Given the description of an element on the screen output the (x, y) to click on. 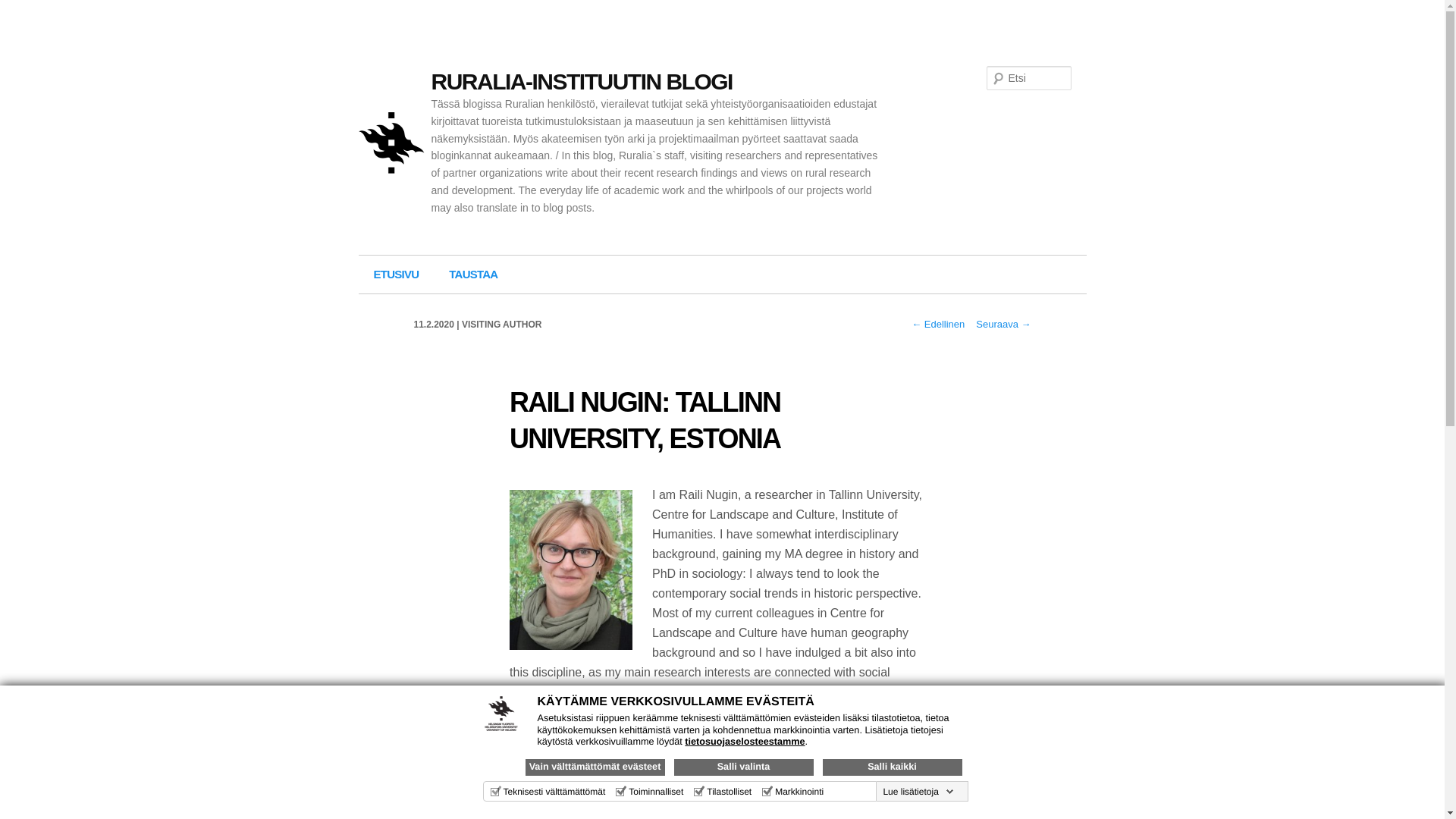
Salli valinta (742, 767)
Salli kaikki (891, 767)
tietosuojaselosteestamme (744, 741)
